Given the description of an element on the screen output the (x, y) to click on. 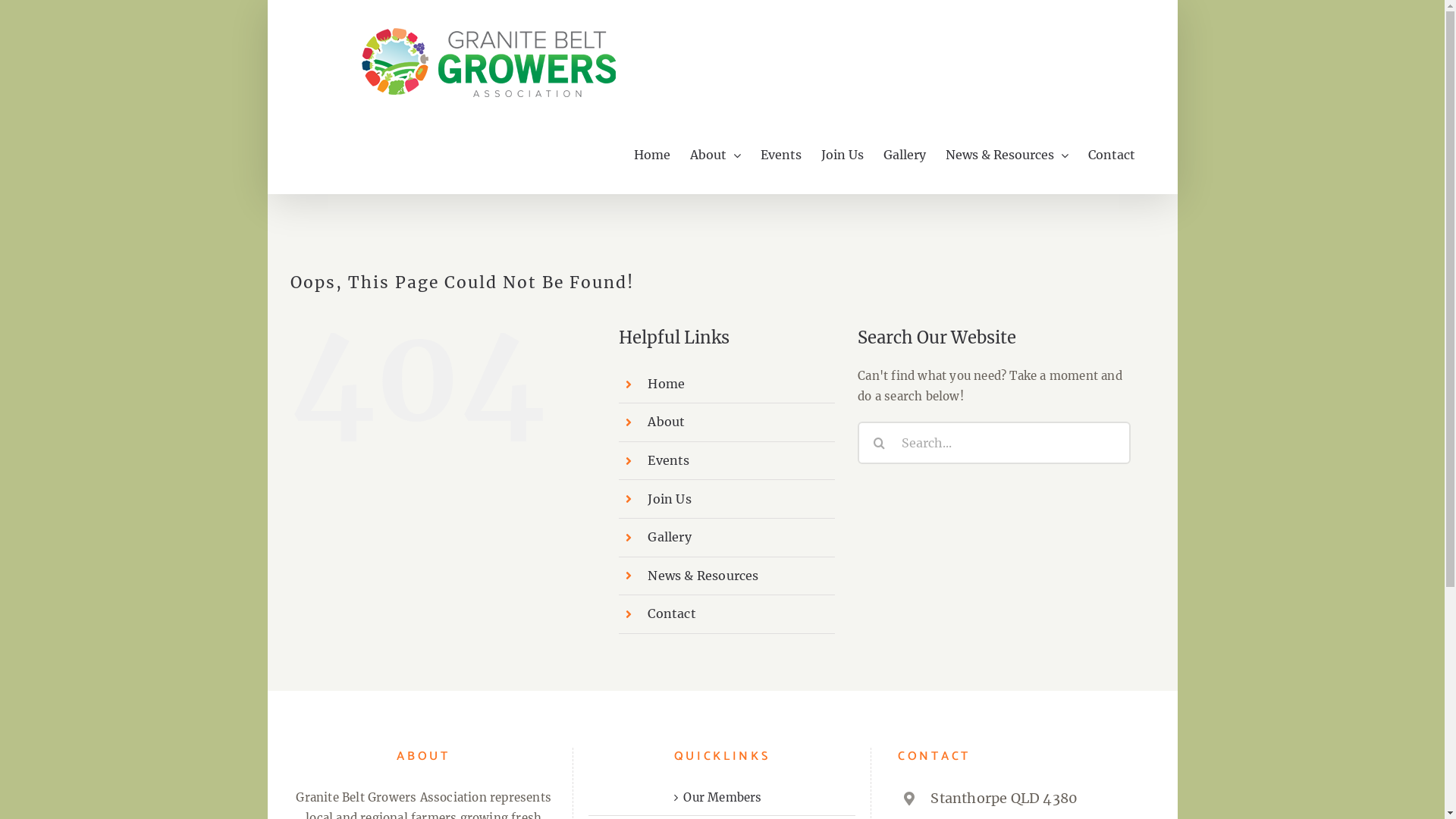
News & Resources Element type: text (1005, 154)
Our Members Element type: text (722, 797)
Events Element type: text (668, 459)
About Element type: text (665, 421)
Gallery Element type: text (668, 536)
About Element type: text (715, 154)
Contact Element type: text (671, 613)
Join Us Element type: text (668, 498)
Home Element type: text (651, 154)
News & Resources Element type: text (702, 575)
Events Element type: text (779, 154)
Contact Element type: text (1110, 154)
Gallery Element type: text (903, 154)
Join Us Element type: text (841, 154)
Home Element type: text (665, 383)
